Given the description of an element on the screen output the (x, y) to click on. 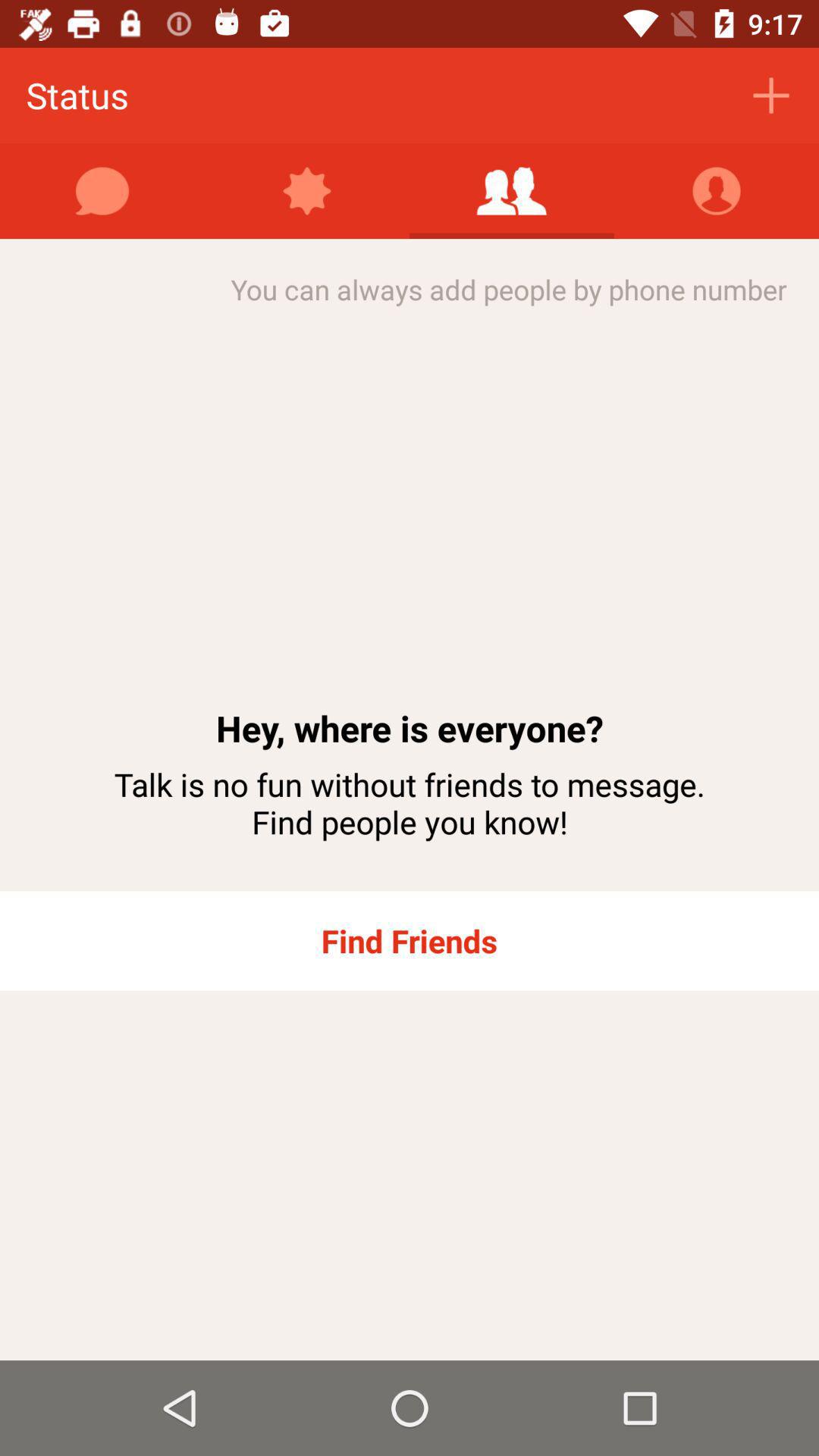
write message (102, 190)
